Given the description of an element on the screen output the (x, y) to click on. 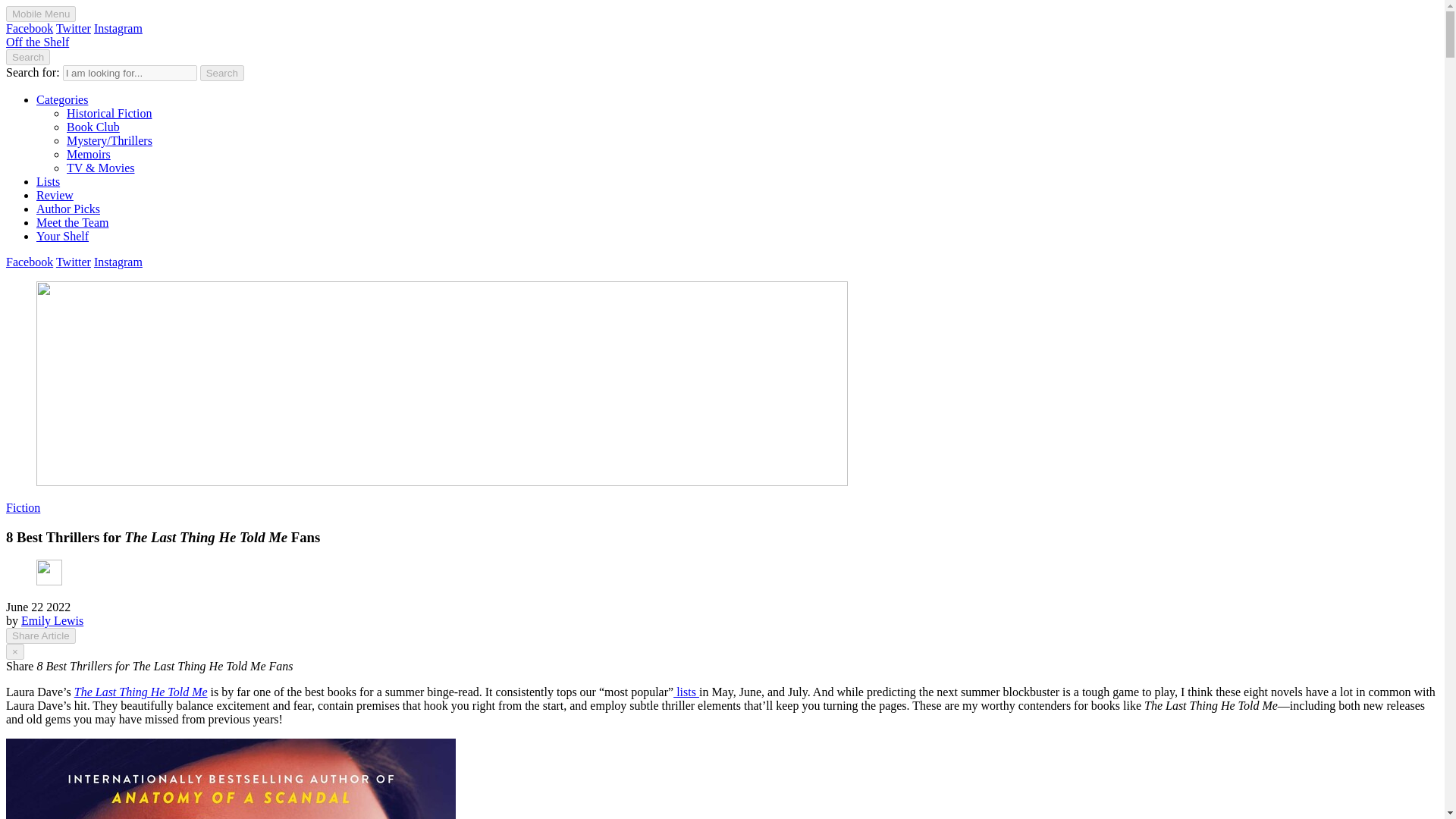
lists (685, 691)
Categories (61, 99)
Meet the Team (71, 222)
Facebook (28, 28)
Share Article (40, 635)
Lists (47, 181)
Memoirs (88, 154)
Posts by Emily Lewis (51, 620)
Instagram (118, 28)
Off the Shelf (36, 42)
Search (222, 73)
Search (222, 73)
Twitter (73, 261)
The Last Thing He Told Me (141, 691)
Mobile Navigation (40, 13)
